Given the description of an element on the screen output the (x, y) to click on. 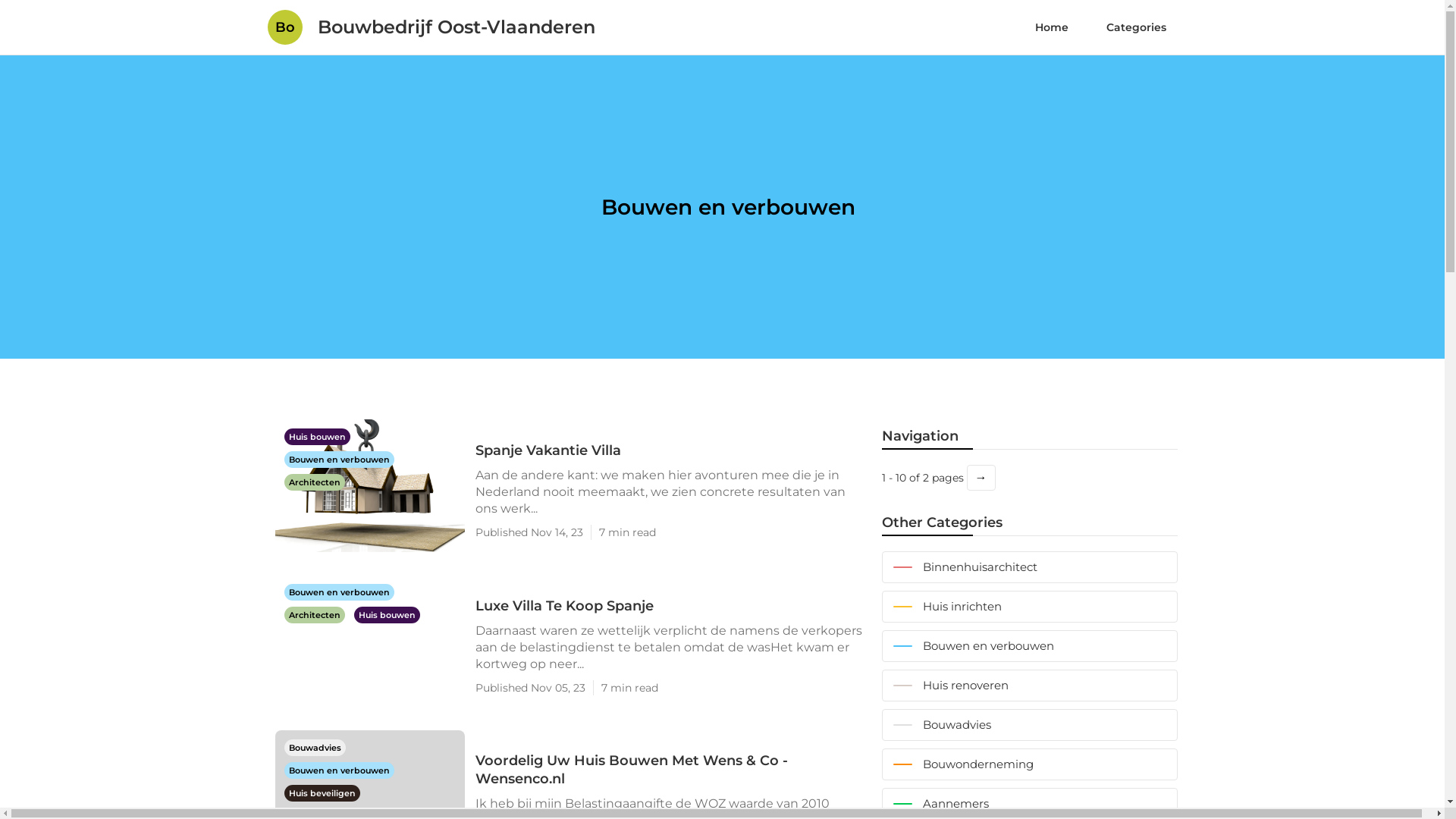
Categories Element type: text (1136, 26)
Architecten Element type: text (315, 614)
Luxe Villa Te Koop Spanje Element type: text (670, 605)
Huis inrichten Element type: text (1028, 606)
Bouwadvies Element type: text (314, 746)
Huis renoveren Element type: text (1028, 685)
Huis beveiligen Element type: text (321, 792)
Bouwen en verbouwen Element type: text (338, 769)
Huis bouwen Element type: text (316, 435)
Bouwen en verbouwen Element type: text (338, 591)
Spanje Vakantie Villa Element type: text (670, 450)
Architecten Element type: text (313, 481)
Bouwadvies Element type: text (1028, 724)
Voordelig Uw Huis Bouwen Met Wens & Co - Wensenco.nl Element type: text (670, 768)
Bouwonderneming Element type: text (1028, 764)
Huis bouwen Element type: text (386, 614)
Bouwen en verbouwen Element type: text (338, 458)
Binnenhuisarchitect Element type: text (1028, 567)
Bouwen en verbouwen Element type: text (1028, 646)
Home Element type: text (1051, 26)
